Given the description of an element on the screen output the (x, y) to click on. 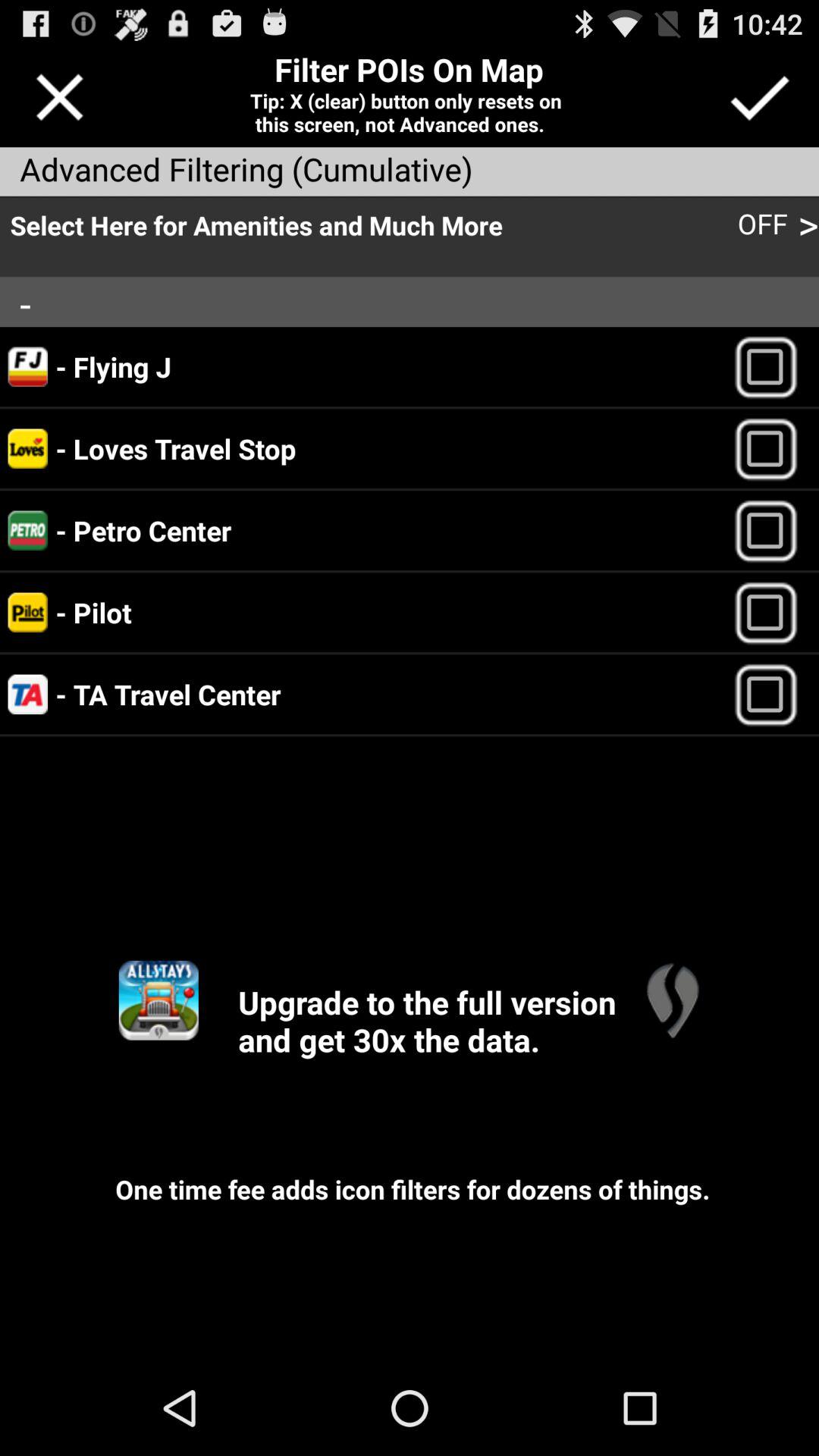
select point of interest (772, 448)
